Given the description of an element on the screen output the (x, y) to click on. 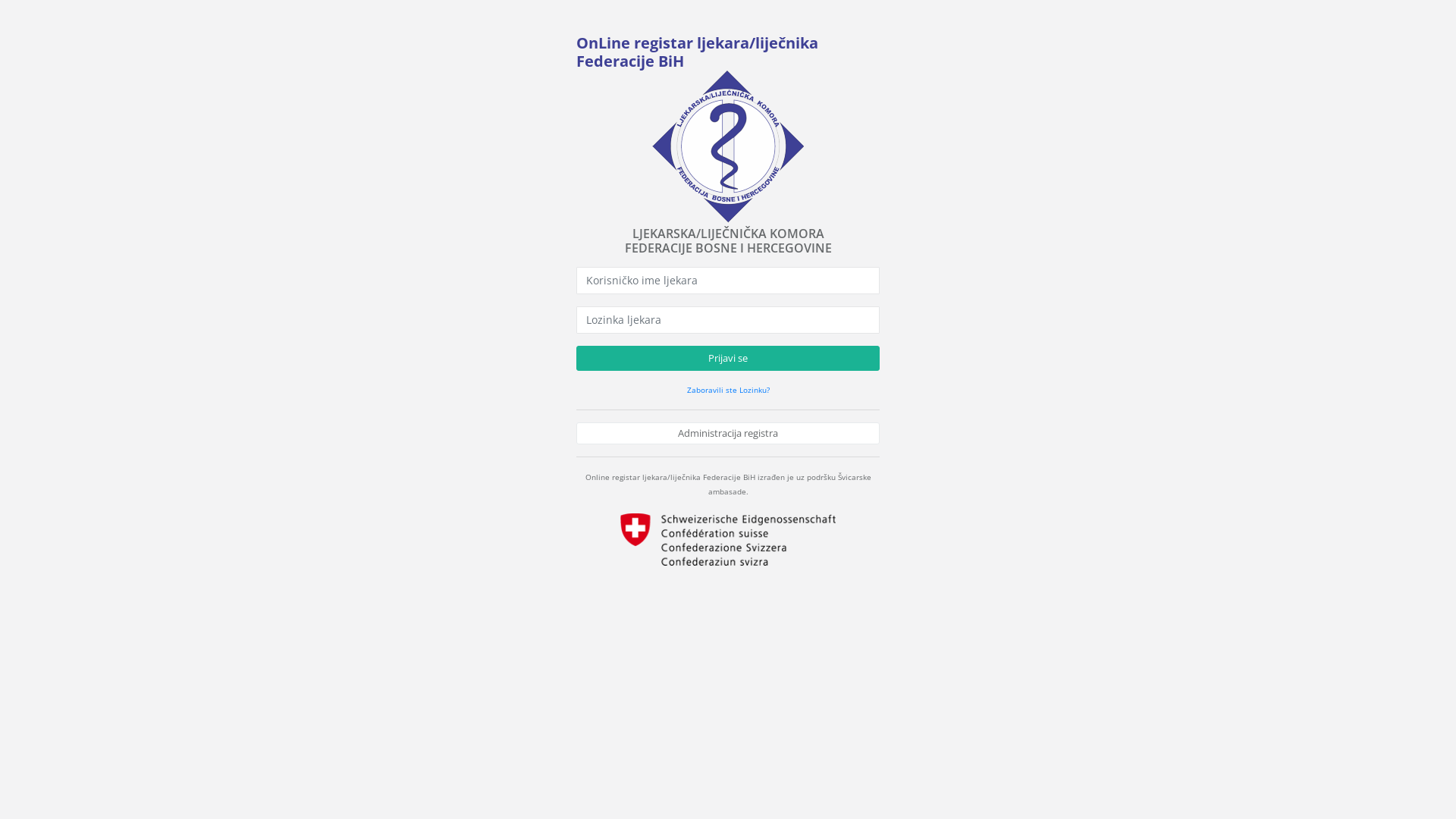
Prijavi se Element type: text (727, 358)
Administracija registra Element type: text (727, 433)
Zaboravili ste Lozinku? Element type: text (728, 388)
